Given the description of an element on the screen output the (x, y) to click on. 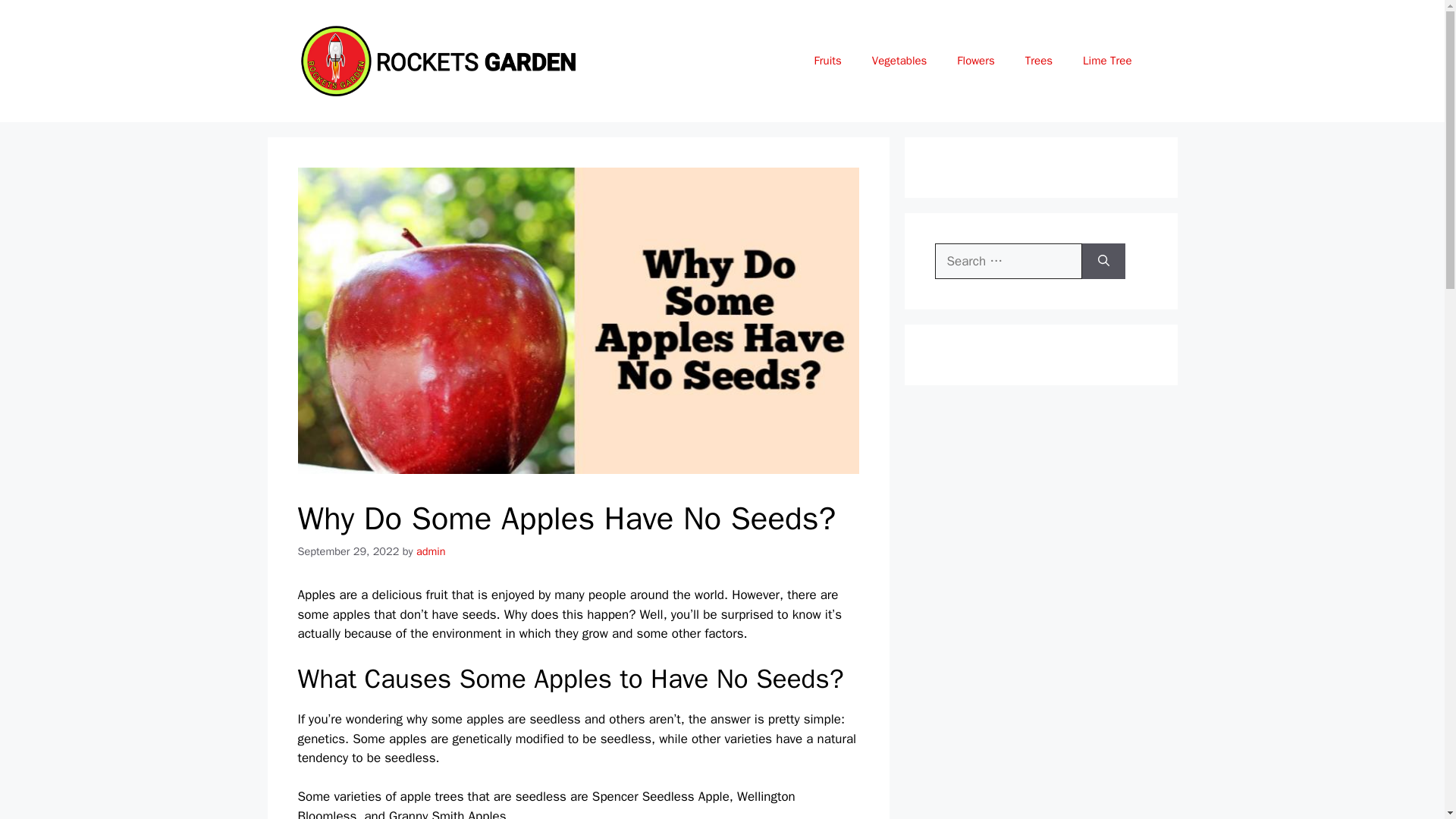
Lime Tree (1107, 60)
Flowers (975, 60)
View all posts by admin (430, 550)
Fruits (828, 60)
Search for: (1007, 261)
Vegetables (899, 60)
Trees (1038, 60)
admin (430, 550)
